Given the description of an element on the screen output the (x, y) to click on. 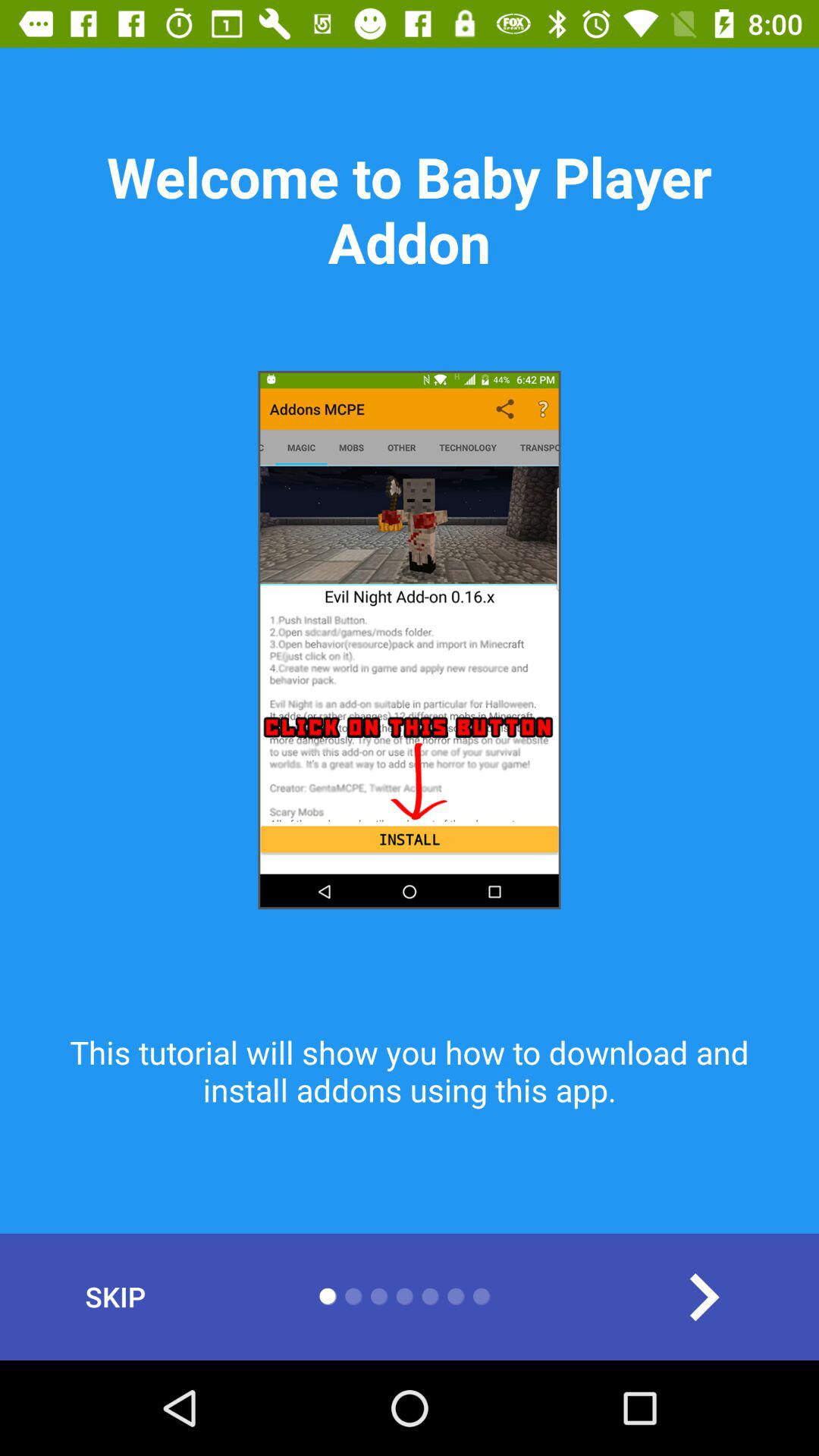
swipe to skip (114, 1296)
